Given the description of an element on the screen output the (x, y) to click on. 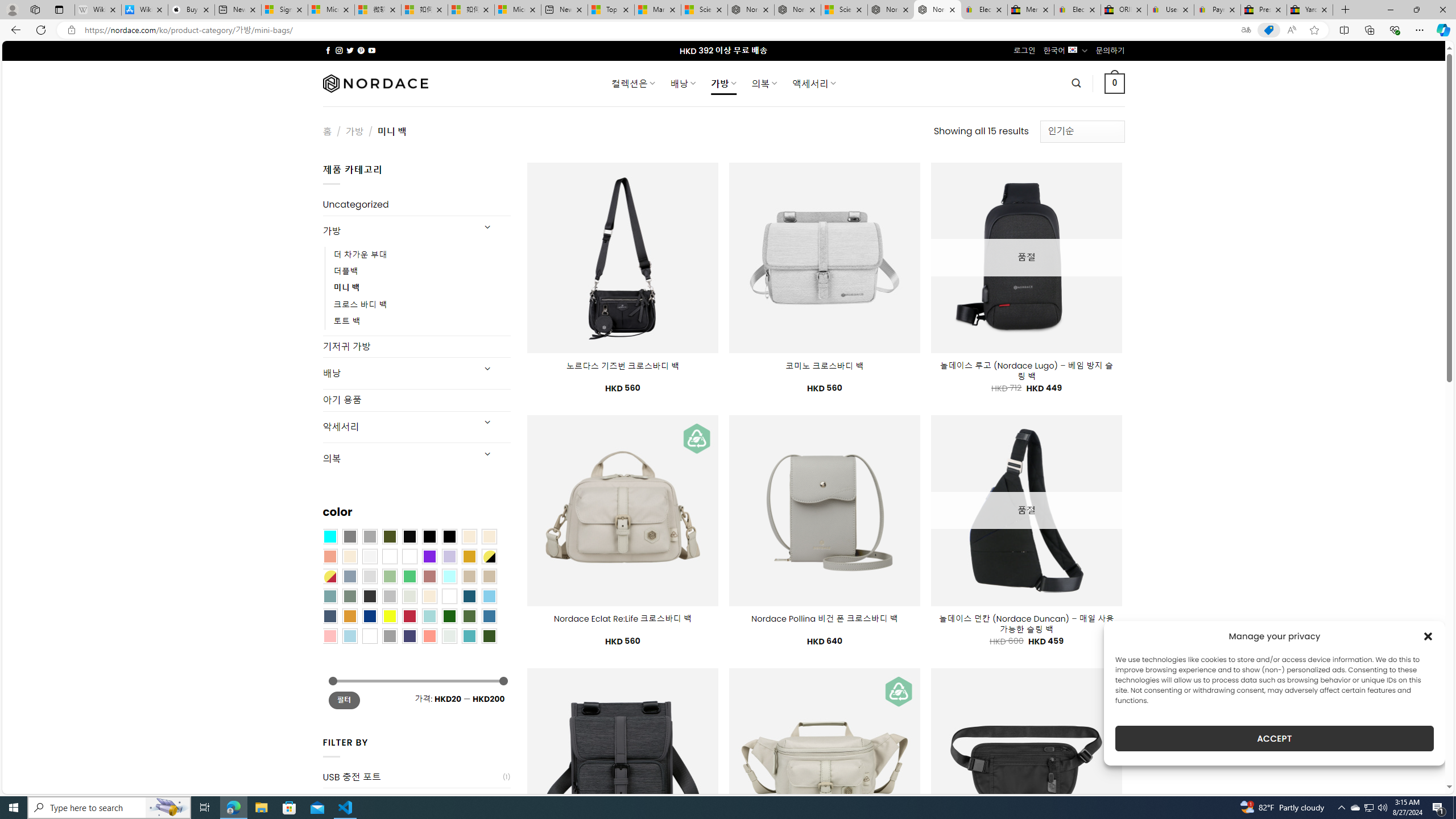
Follow on Instagram (338, 50)
Dull Nickle (449, 635)
